Given the description of an element on the screen output the (x, y) to click on. 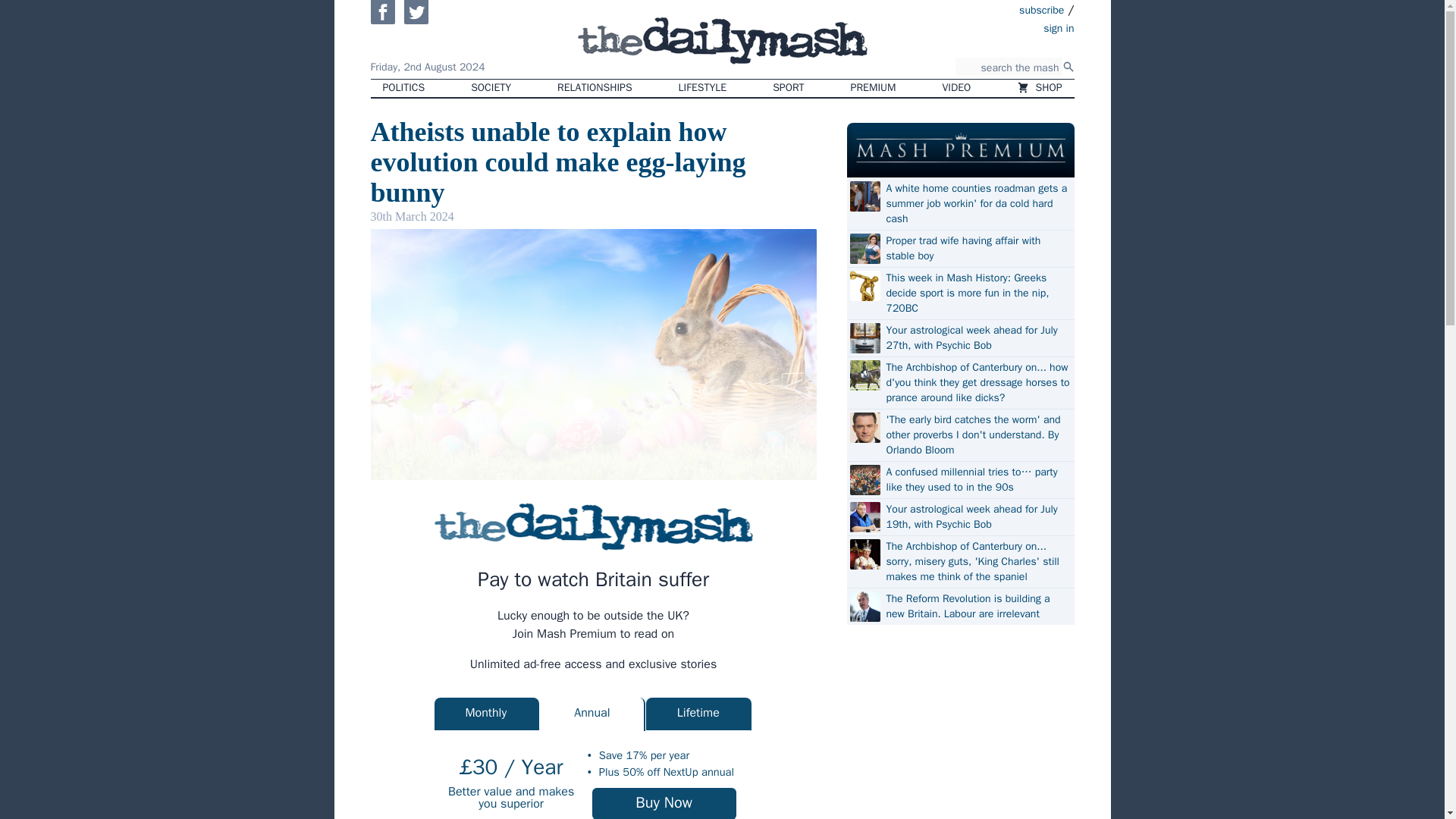
Buy Now (664, 803)
VIDEO (957, 88)
Your astrological week ahead for July 27th, with Psychic Bob (977, 337)
PREMIUM (873, 88)
POLITICS (402, 88)
SOCIETY (490, 88)
subscribe (1041, 9)
LIFESTYLE (702, 88)
SPORT (787, 88)
Proper trad wife having affair with stable boy (977, 248)
sign in (970, 27)
RELATIONSHIPS (593, 88)
